Given the description of an element on the screen output the (x, y) to click on. 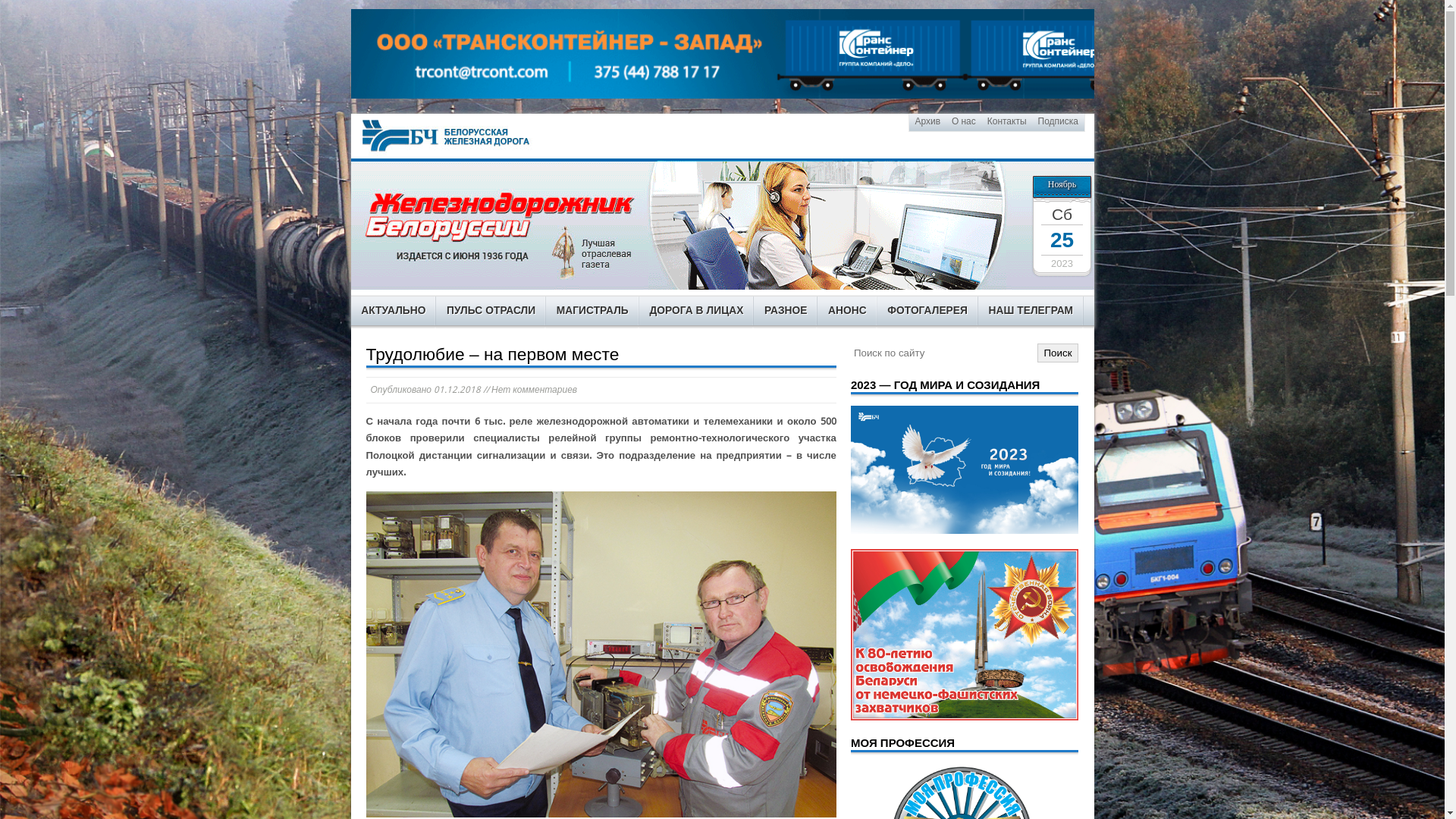
  Element type: text (450, 135)
